Given the description of an element on the screen output the (x, y) to click on. 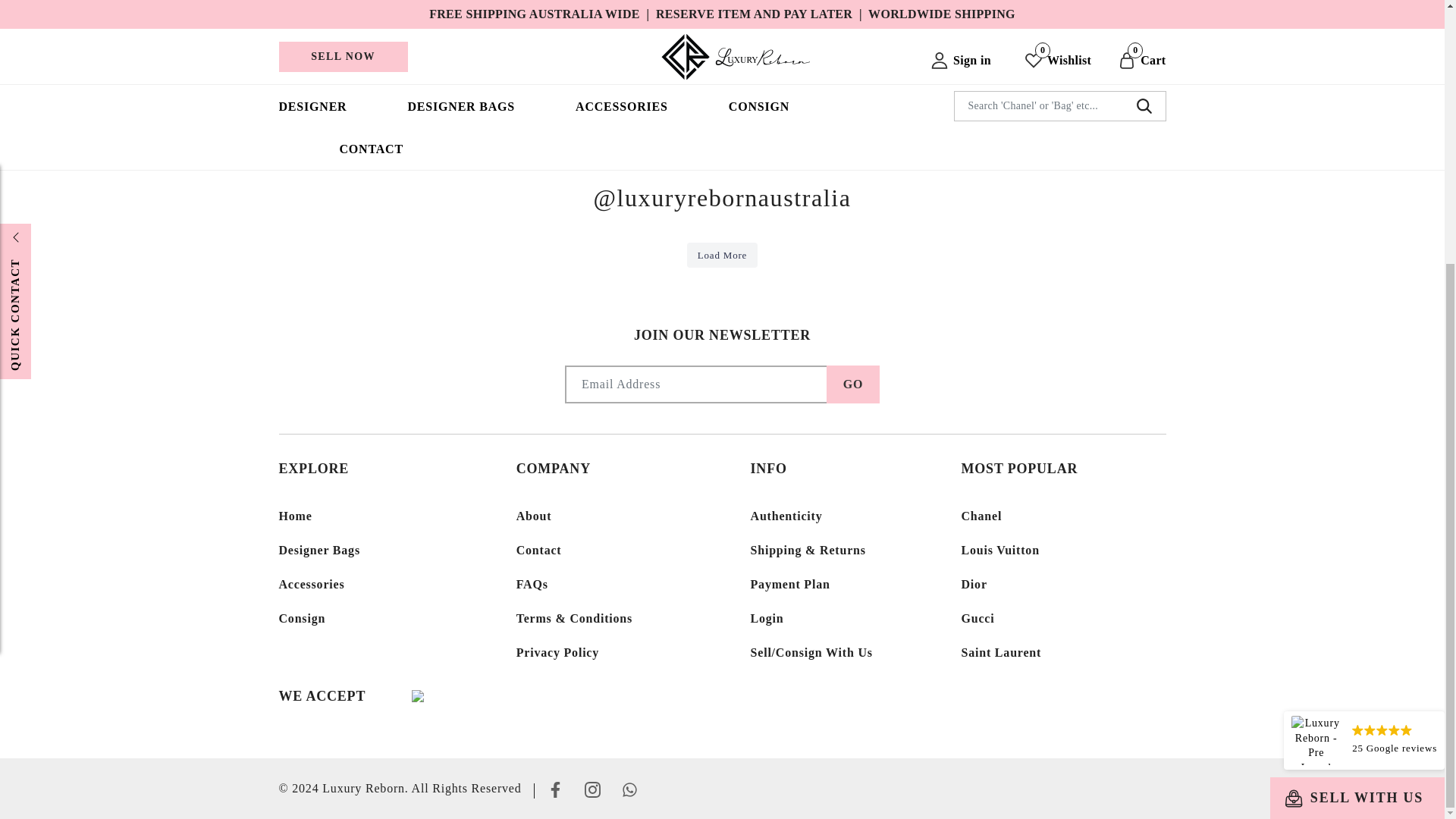
Home Page (738, 97)
Home Page (738, 97)
Go (853, 384)
luxuryrebornaustralia (721, 197)
